Given the description of an element on the screen output the (x, y) to click on. 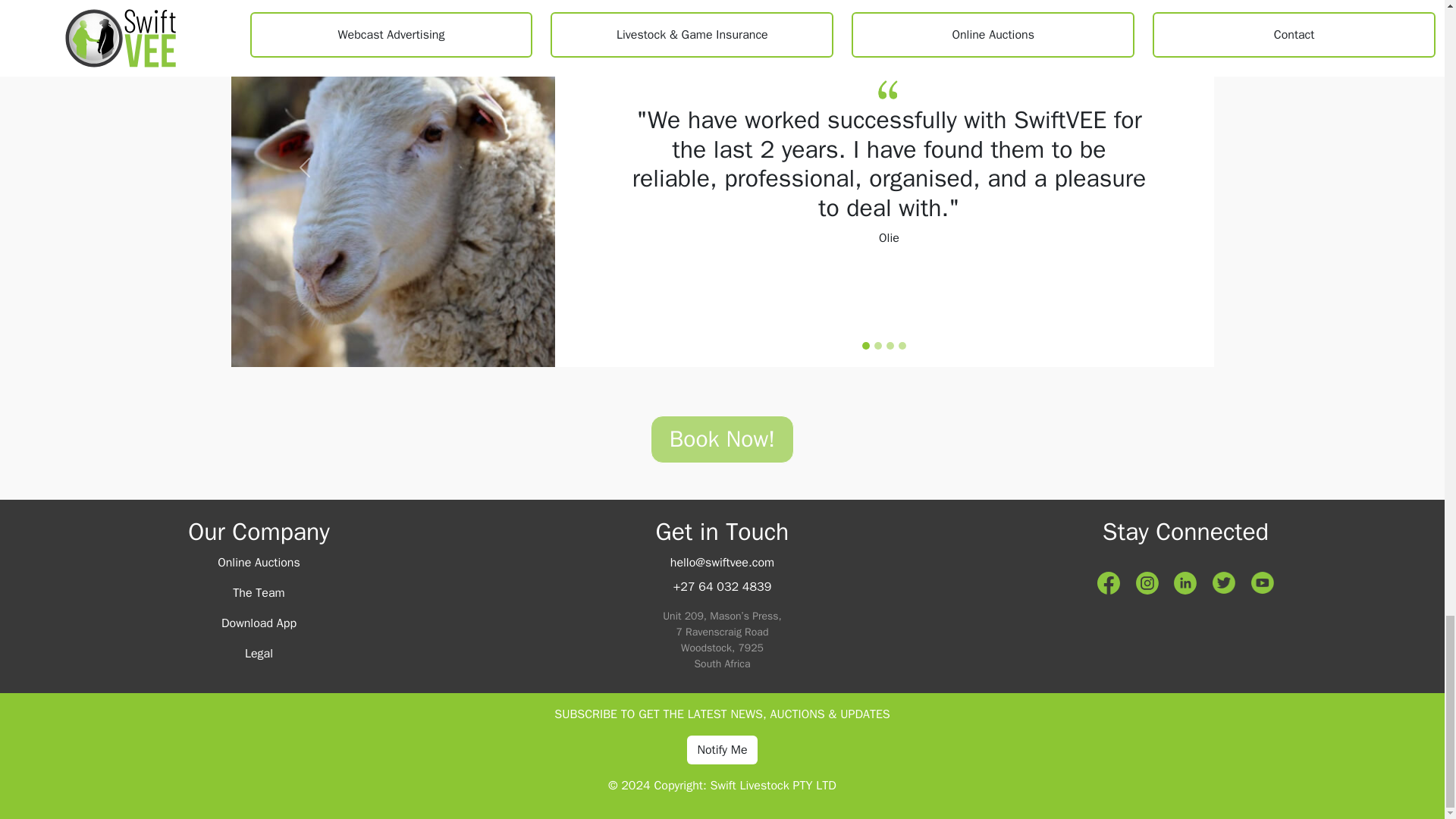
The Team (257, 592)
Book Now! (722, 439)
Legal (258, 653)
Online Auctions (257, 562)
Notify Me (722, 749)
Download App (259, 622)
